Given the description of an element on the screen output the (x, y) to click on. 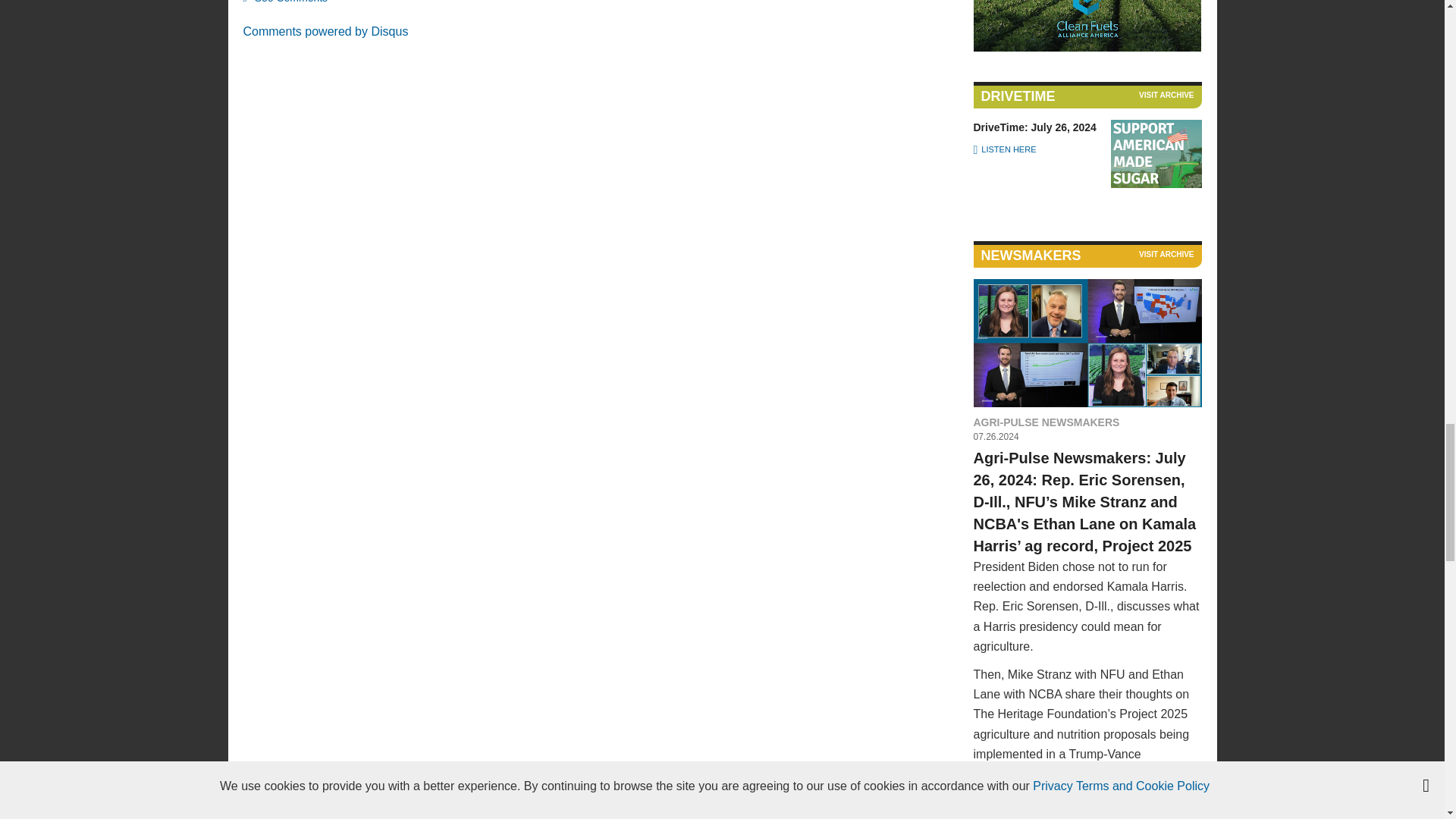
3rd party ad content (1155, 153)
3rd party ad content (1087, 25)
